Given the description of an element on the screen output the (x, y) to click on. 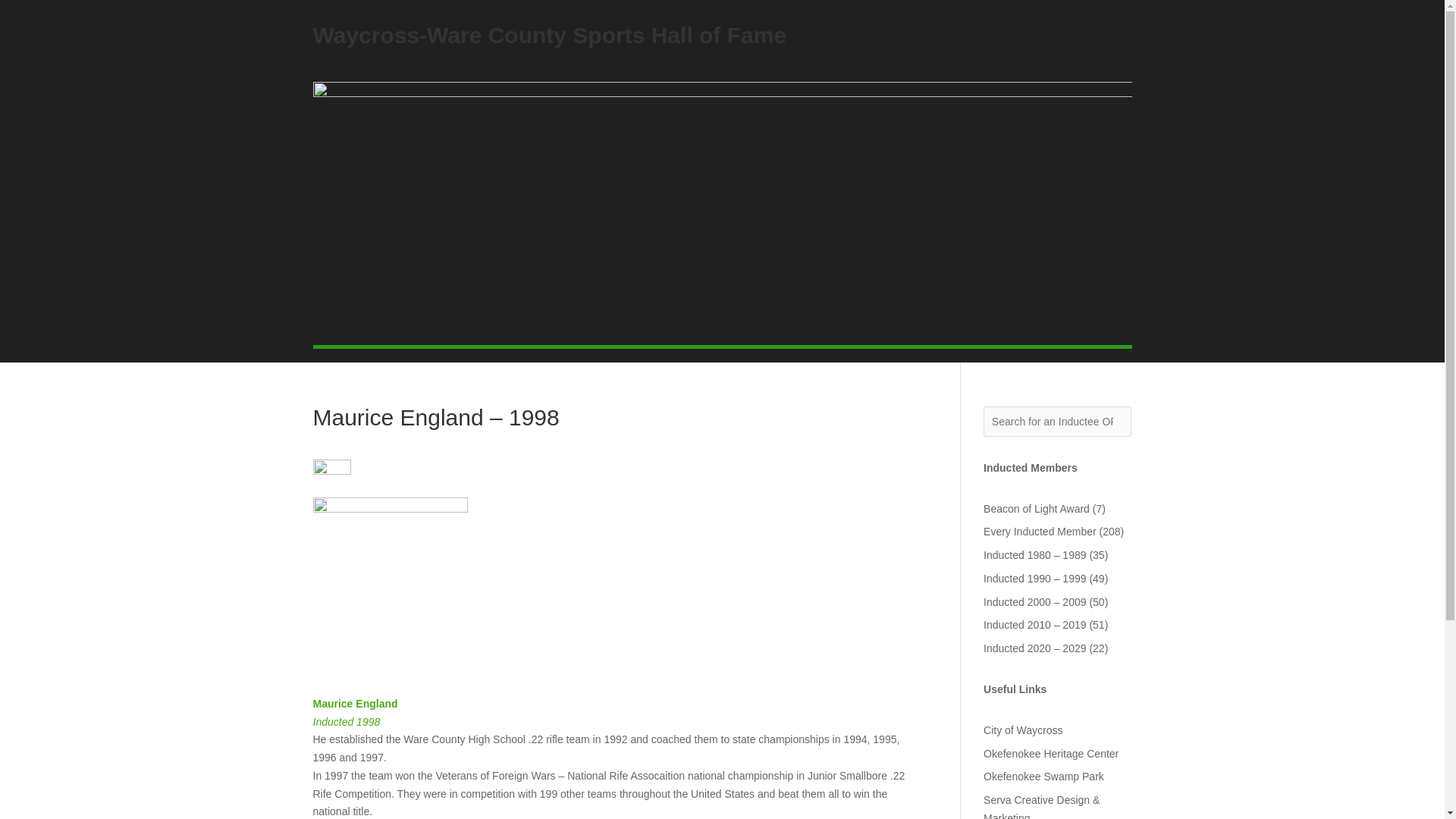
City of Waycross (1023, 729)
Okefenokee Swamp Park (1043, 776)
Okefenokee Heritage Center (1051, 753)
Every Inducted Member (1040, 531)
Beacon of Light Award (1036, 508)
